Given the description of an element on the screen output the (x, y) to click on. 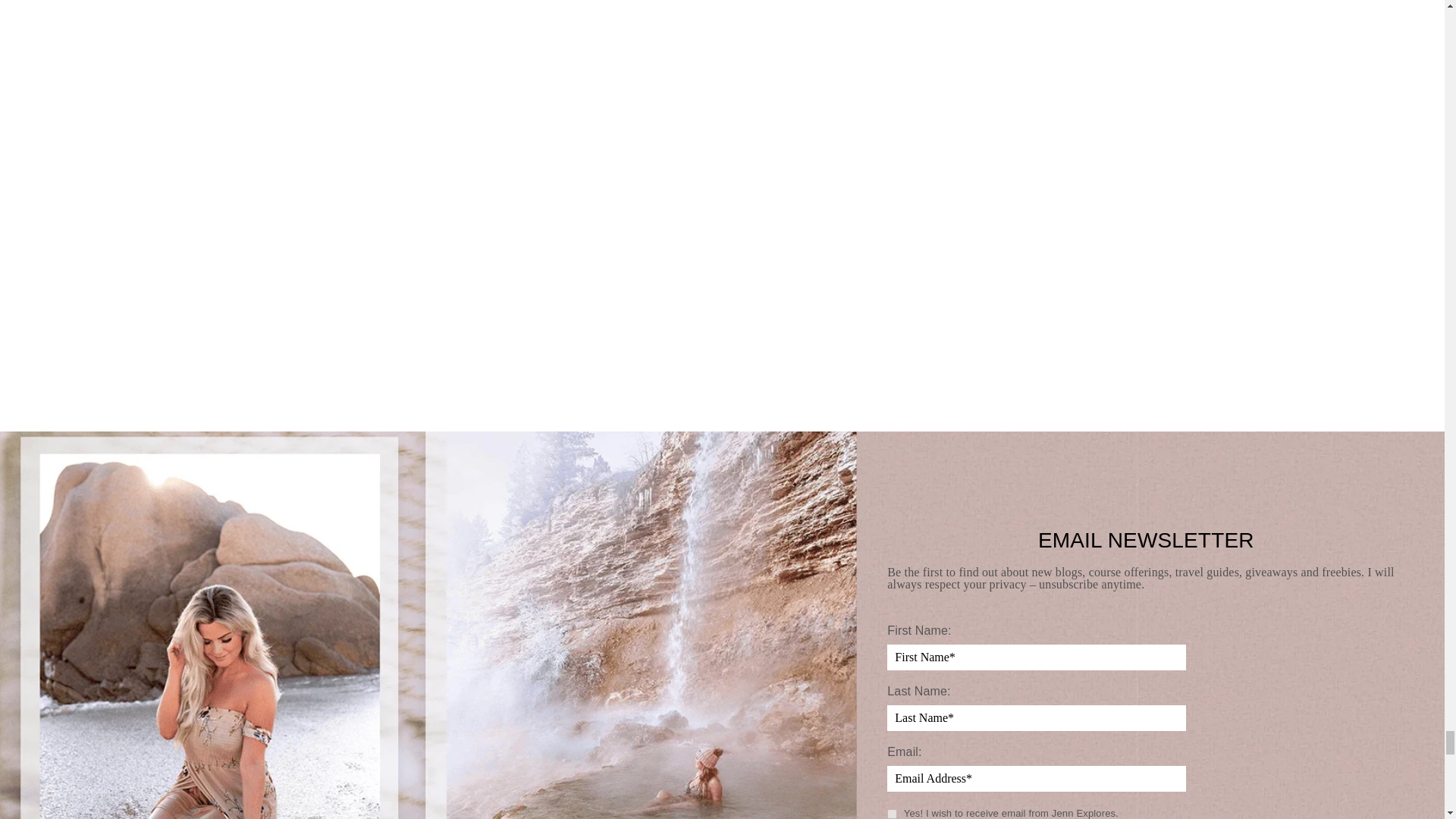
1 (891, 814)
